Given the description of an element on the screen output the (x, y) to click on. 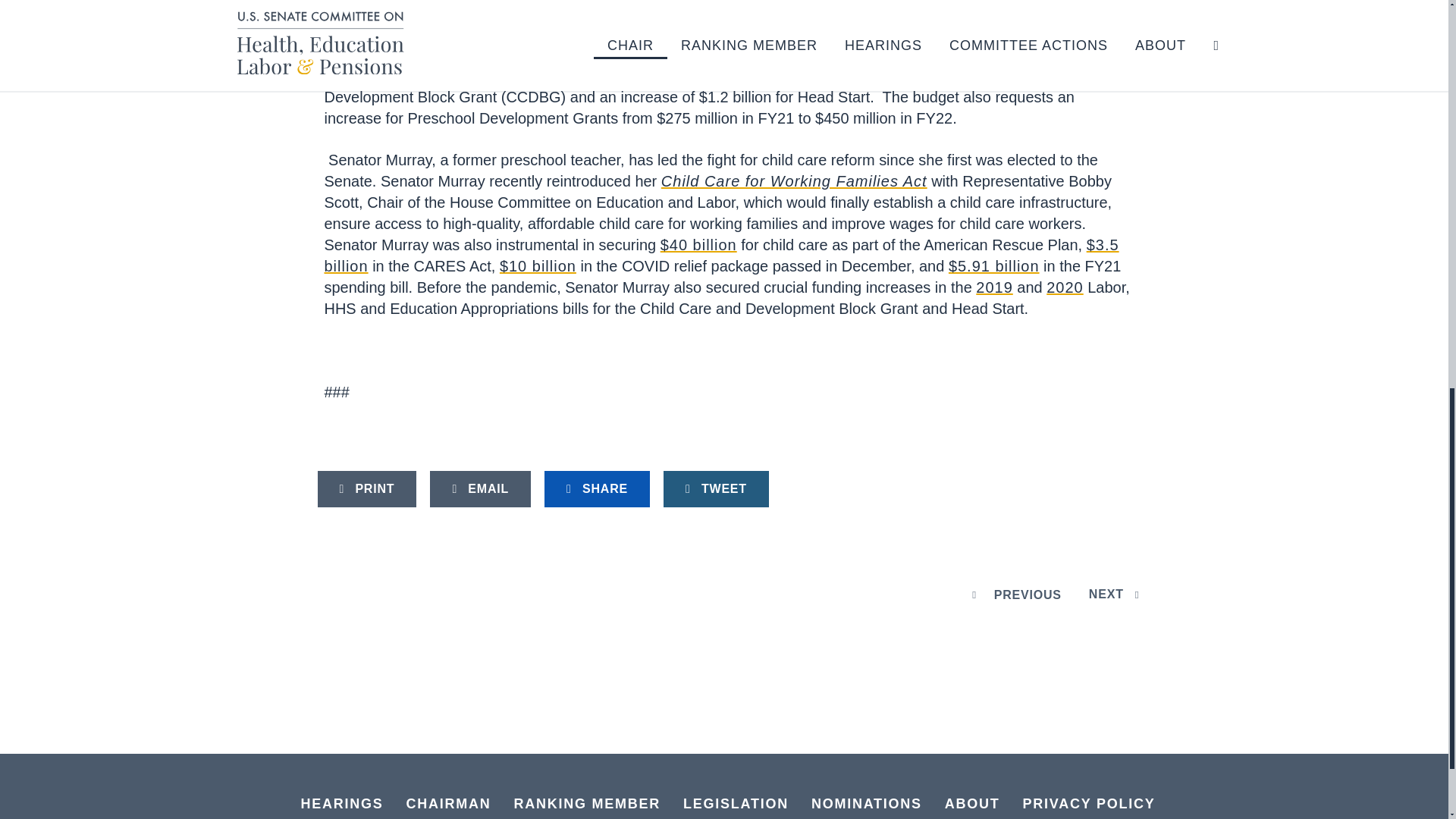
Child Care for Working Families Act (794, 180)
Legislation (735, 804)
2019 (993, 287)
TWEET (715, 488)
Nominations (865, 804)
SHARE (596, 488)
2020 (1064, 287)
Chairman (449, 804)
PREVIOUS (1013, 595)
Privacy Policy (1089, 804)
